Given the description of an element on the screen output the (x, y) to click on. 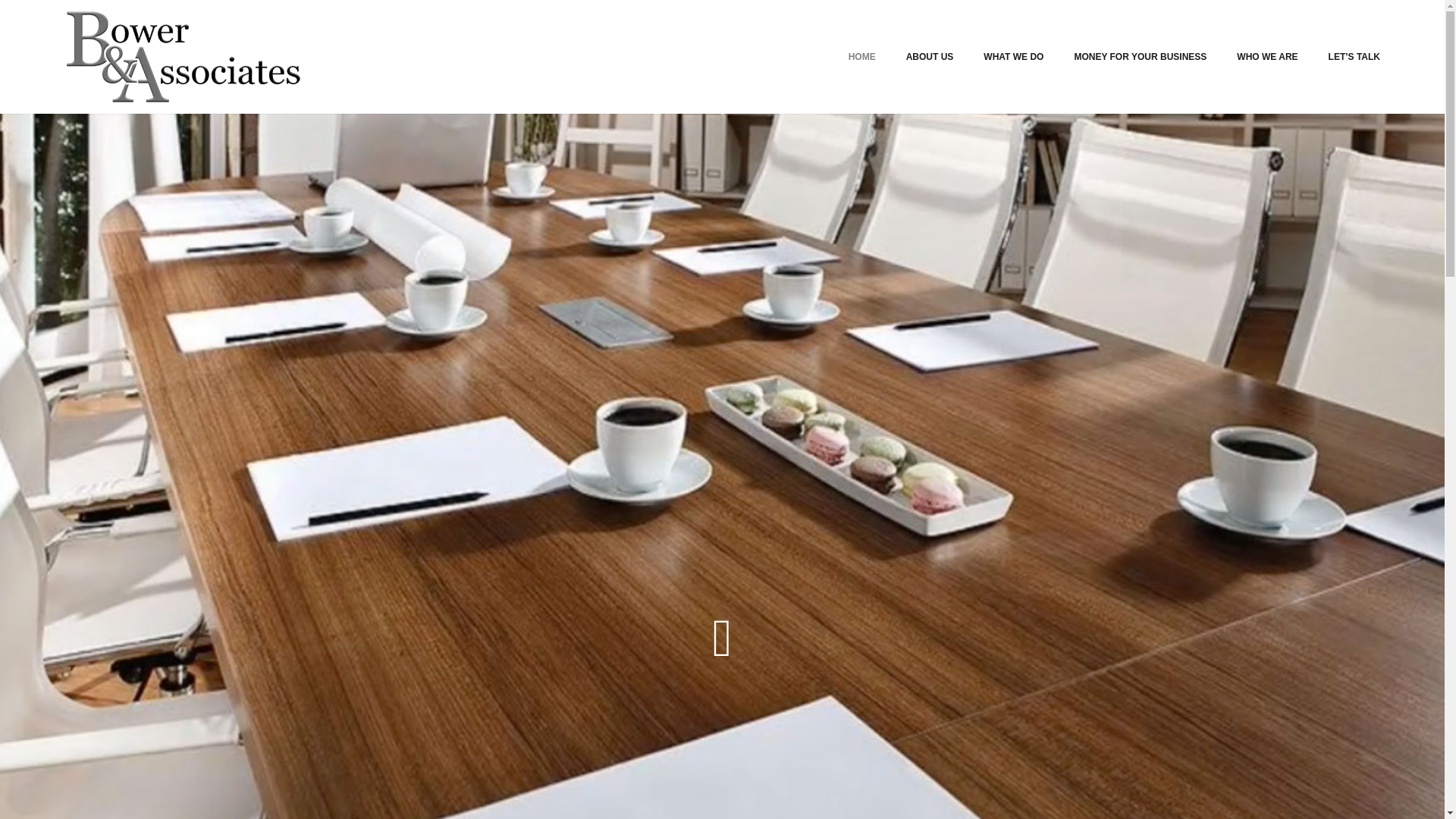
MONEY FOR YOUR BUSINESS (1139, 56)
